Given the description of an element on the screen output the (x, y) to click on. 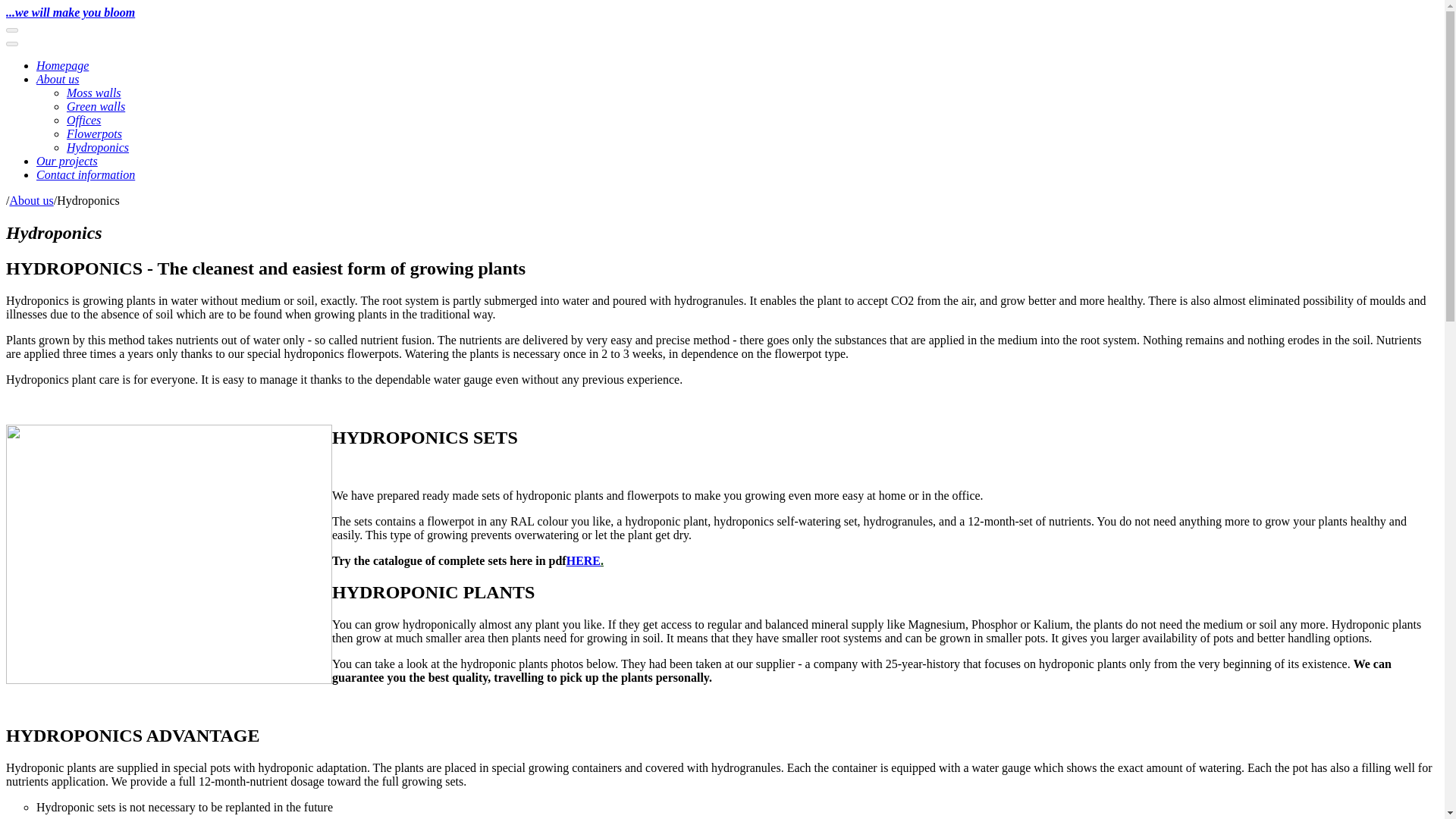
Our projects (66, 160)
Homepage (62, 65)
Hydroponics (97, 146)
Green walls (95, 106)
Contact information (85, 174)
About us (57, 78)
Flowerpots (94, 133)
HERE (582, 560)
Hydroponics (87, 200)
Moss walls (93, 92)
